Given the description of an element on the screen output the (x, y) to click on. 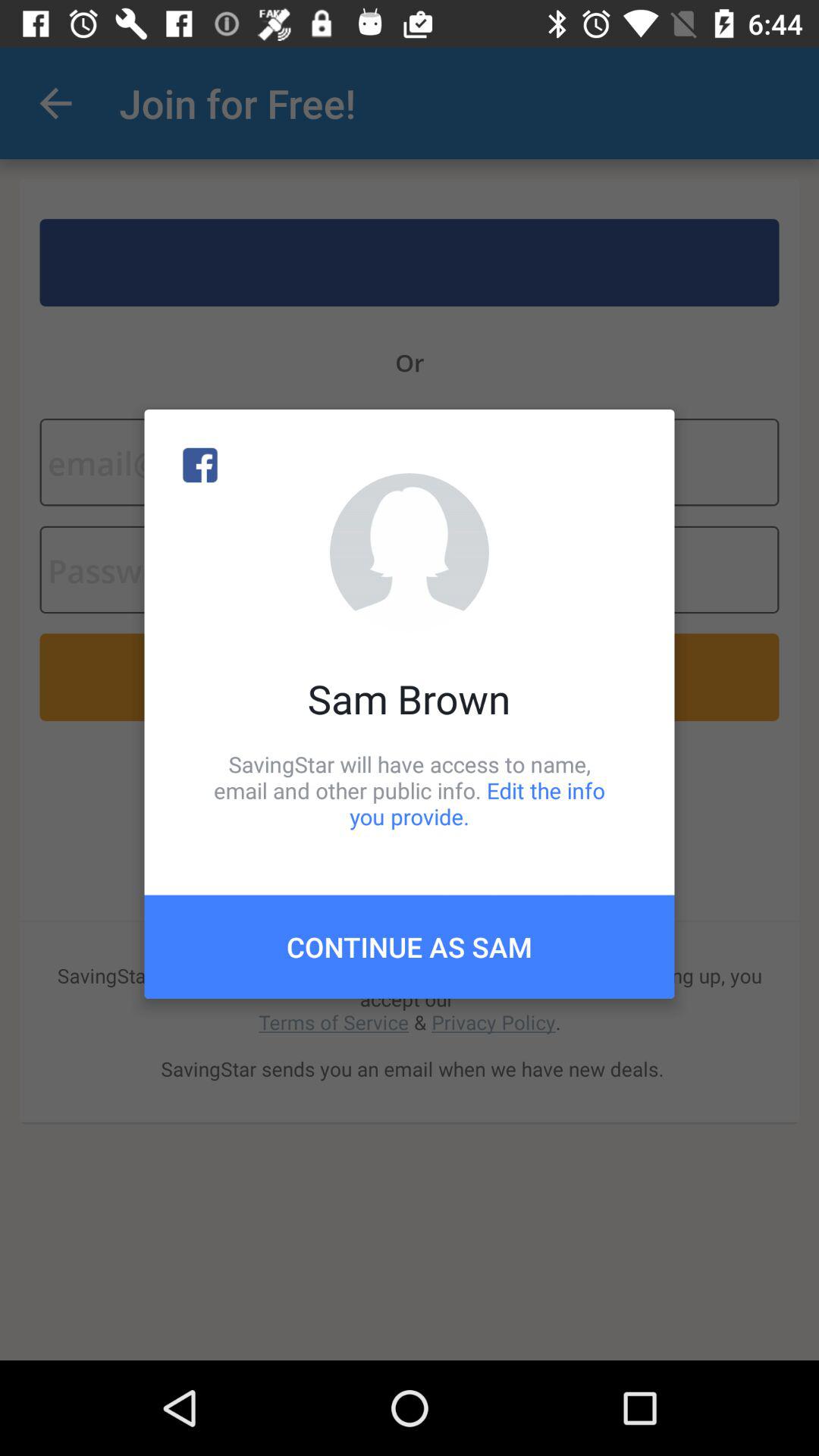
press icon below sam brown icon (409, 790)
